Given the description of an element on the screen output the (x, y) to click on. 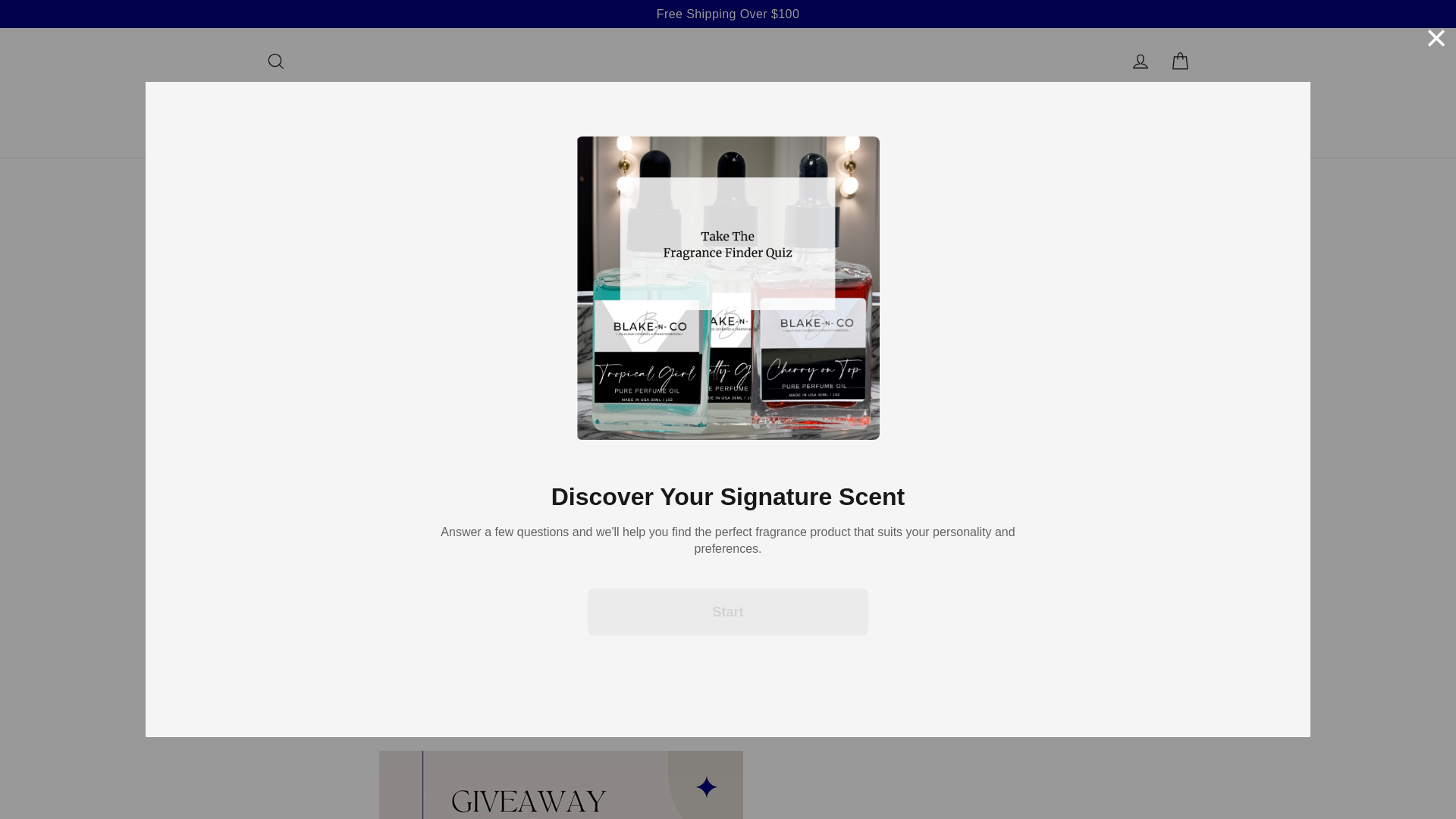
LOG IN (1140, 61)
SEARCH (275, 61)
